Given the description of an element on the screen output the (x, y) to click on. 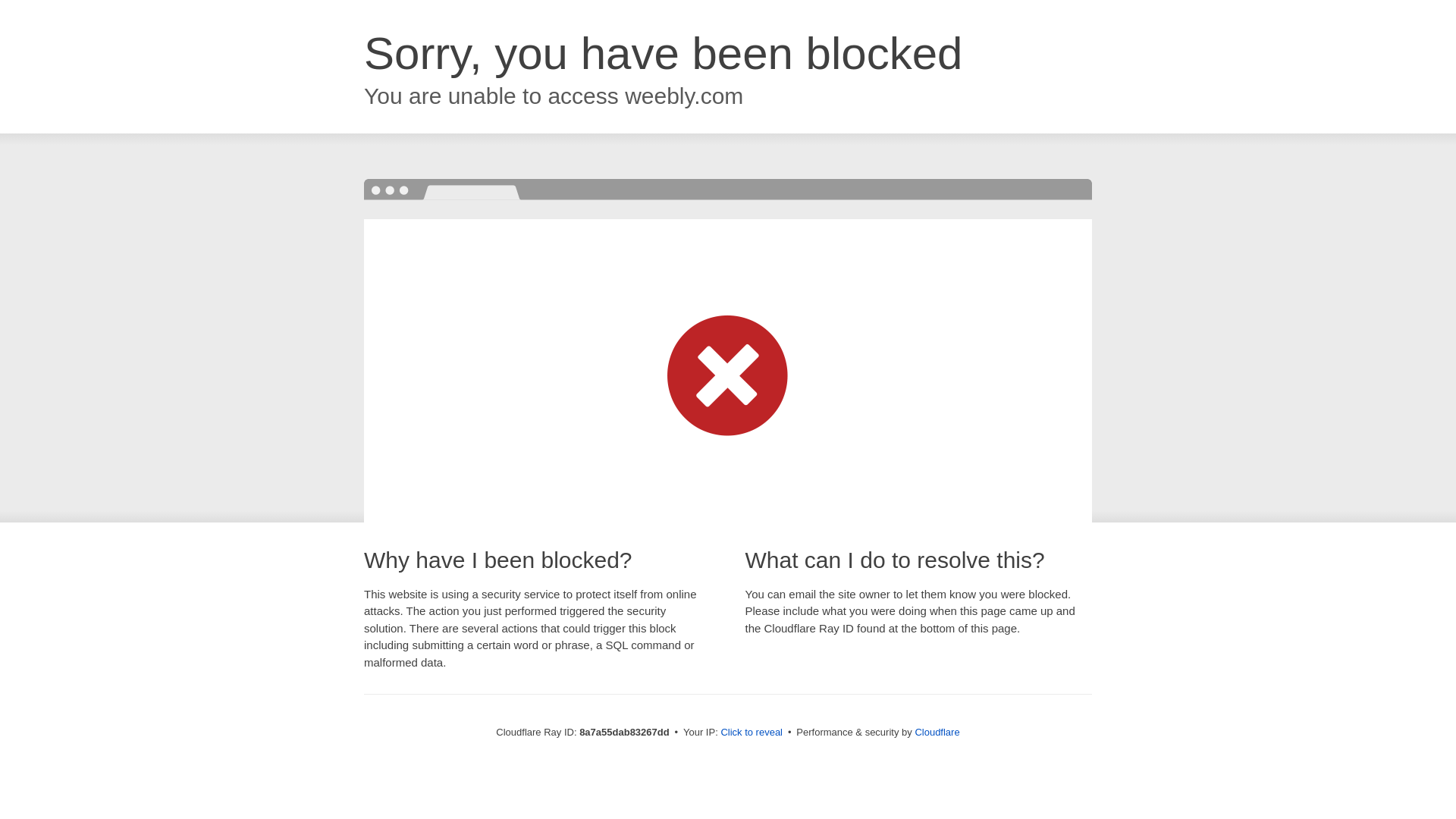
Click to reveal (751, 732)
Cloudflare (936, 731)
